Given the description of an element on the screen output the (x, y) to click on. 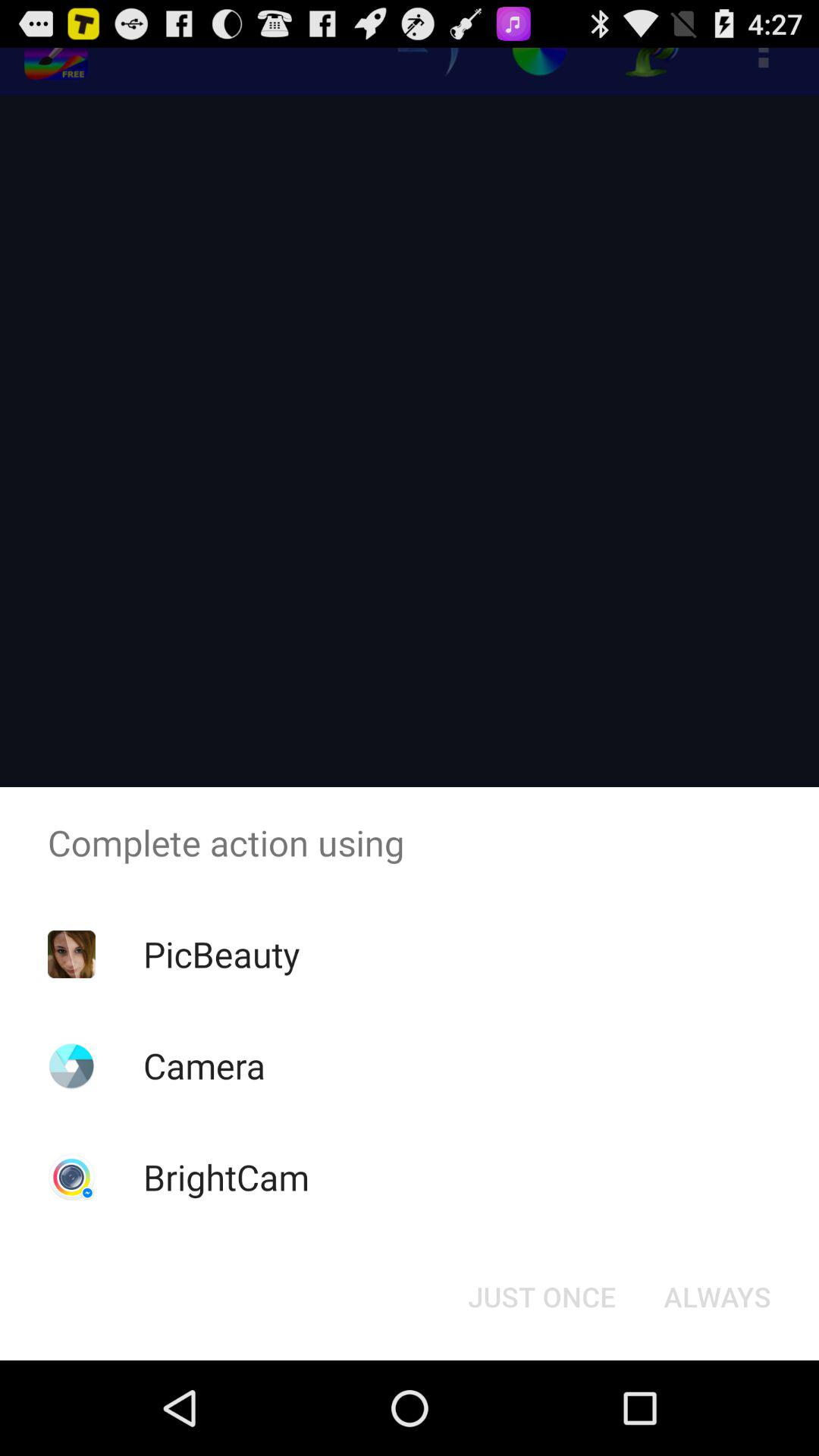
turn off the picbeauty icon (221, 953)
